Given the description of an element on the screen output the (x, y) to click on. 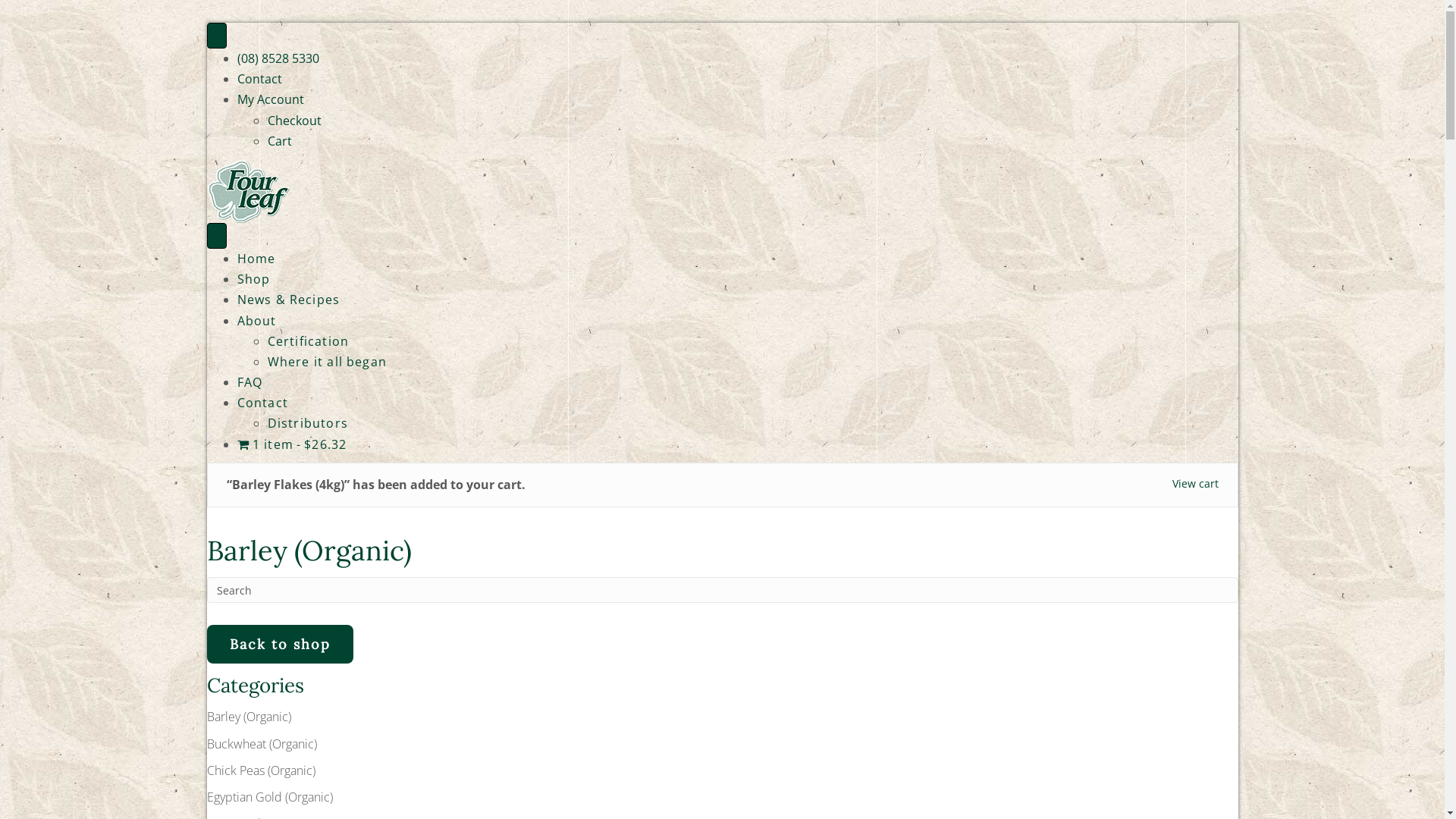
Buckwheat (Organic) Element type: text (261, 743)
Type and press Enter to search. Element type: hover (721, 589)
Where it all began Element type: text (326, 361)
Certification Element type: text (307, 340)
View cart Element type: text (1195, 483)
About Element type: text (256, 320)
Contact Element type: text (258, 78)
Egyptian Gold (Organic) Element type: text (269, 796)
Distributors Element type: text (306, 422)
Cart Element type: text (278, 140)
Contact Element type: text (261, 402)
Checkout Element type: text (293, 120)
Chick Peas (Organic) Element type: text (260, 770)
(08) 8528 5330 Element type: text (277, 58)
1 item$26.32 Element type: text (291, 444)
News & Recipes Element type: text (287, 299)
My Account Element type: text (269, 99)
Shop Element type: text (252, 278)
Back to shop Element type: text (279, 643)
Barley (Organic) Element type: text (248, 716)
Home Element type: text (255, 258)
FAQ Element type: text (249, 381)
